Given the description of an element on the screen output the (x, y) to click on. 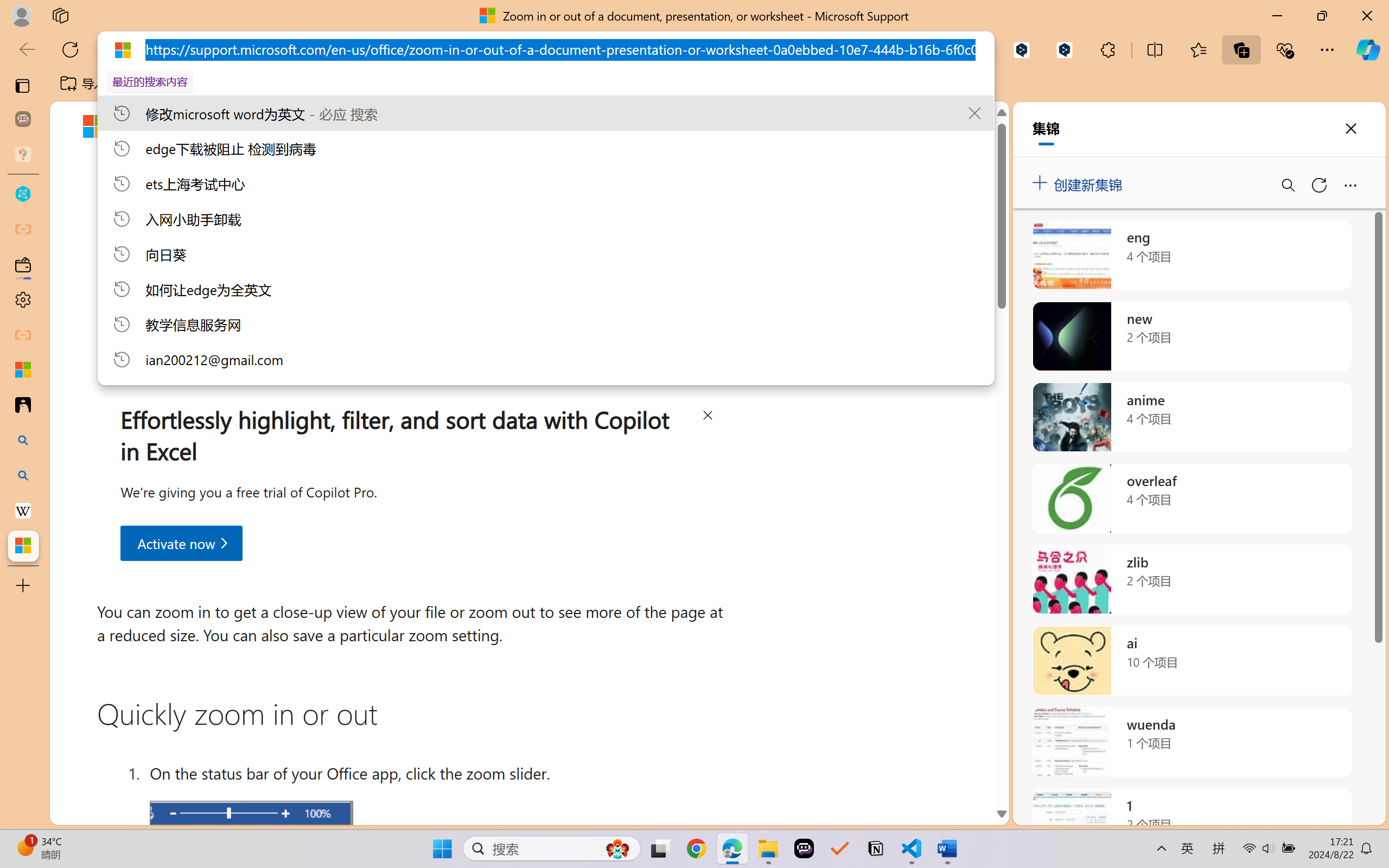
Office (426, 125)
wangyian_dsw - DSW (22, 194)
Transformer Circuits Thread (680, 83)
Gmail (345, 83)
